Given the description of an element on the screen output the (x, y) to click on. 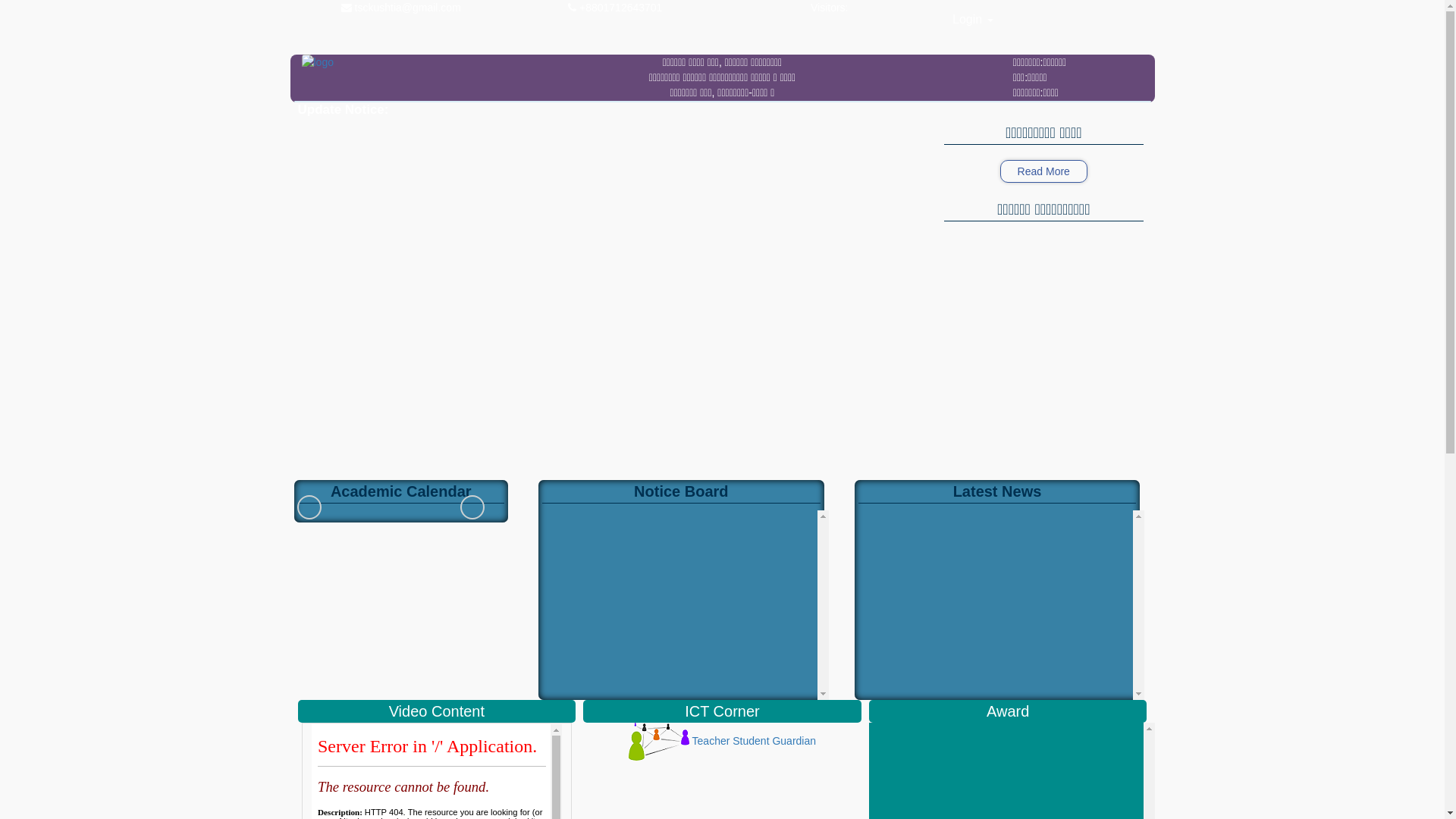
Login Element type: text (972, 19)
Teacher Student Guardian Element type: text (721, 740)
Read More Element type: text (1043, 171)
